Given the description of an element on the screen output the (x, y) to click on. 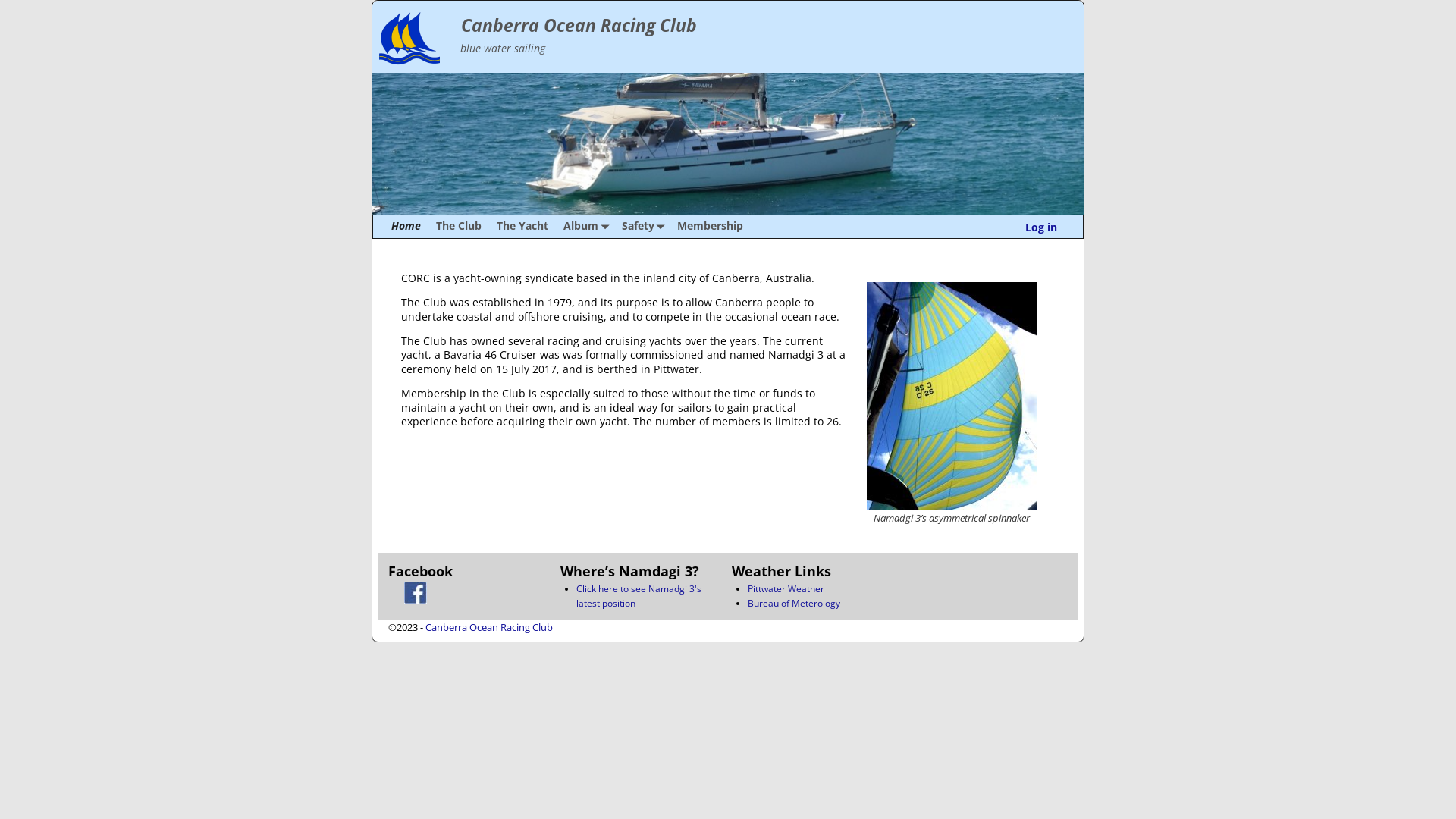
Album Element type: text (584, 226)
Canberra Ocean Racing Club Element type: text (578, 25)
Home Element type: text (405, 226)
Membership Element type: text (709, 226)
Click here to see Namadgi 3's latest position Element type: text (638, 595)
Log in Element type: text (1041, 227)
Bureau of Meterology Element type: text (793, 602)
Safety Element type: text (641, 226)
Canberra Ocean Racing Club Element type: text (488, 626)
Pittwater Weather Element type: text (785, 588)
The Yacht Element type: text (522, 226)
The Club Element type: text (458, 226)
